Given the description of an element on the screen output the (x, y) to click on. 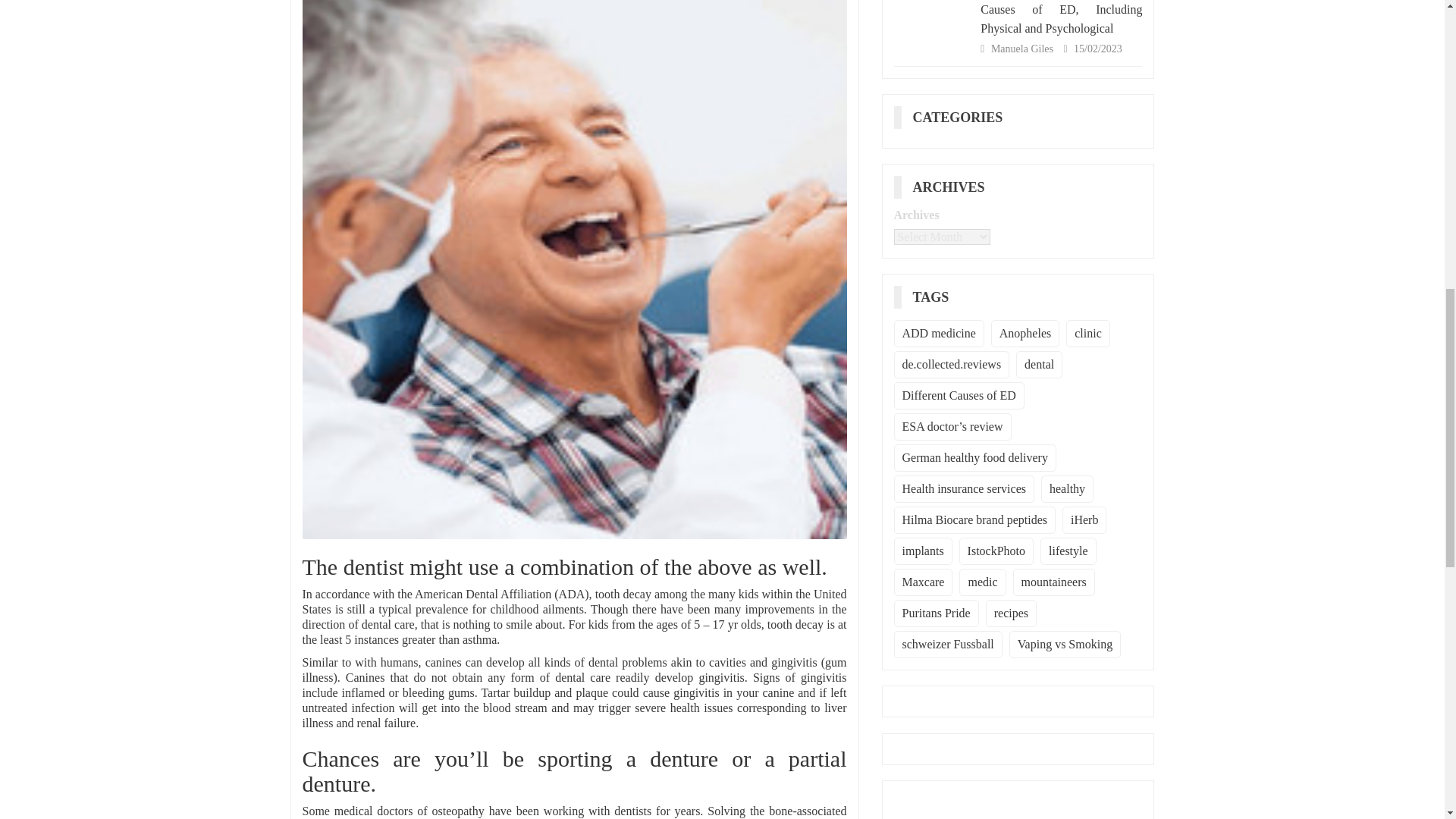
CATEGORIES (963, 117)
TAGS (936, 296)
ARCHIVES (953, 186)
Manuela Giles (1024, 48)
